Given the description of an element on the screen output the (x, y) to click on. 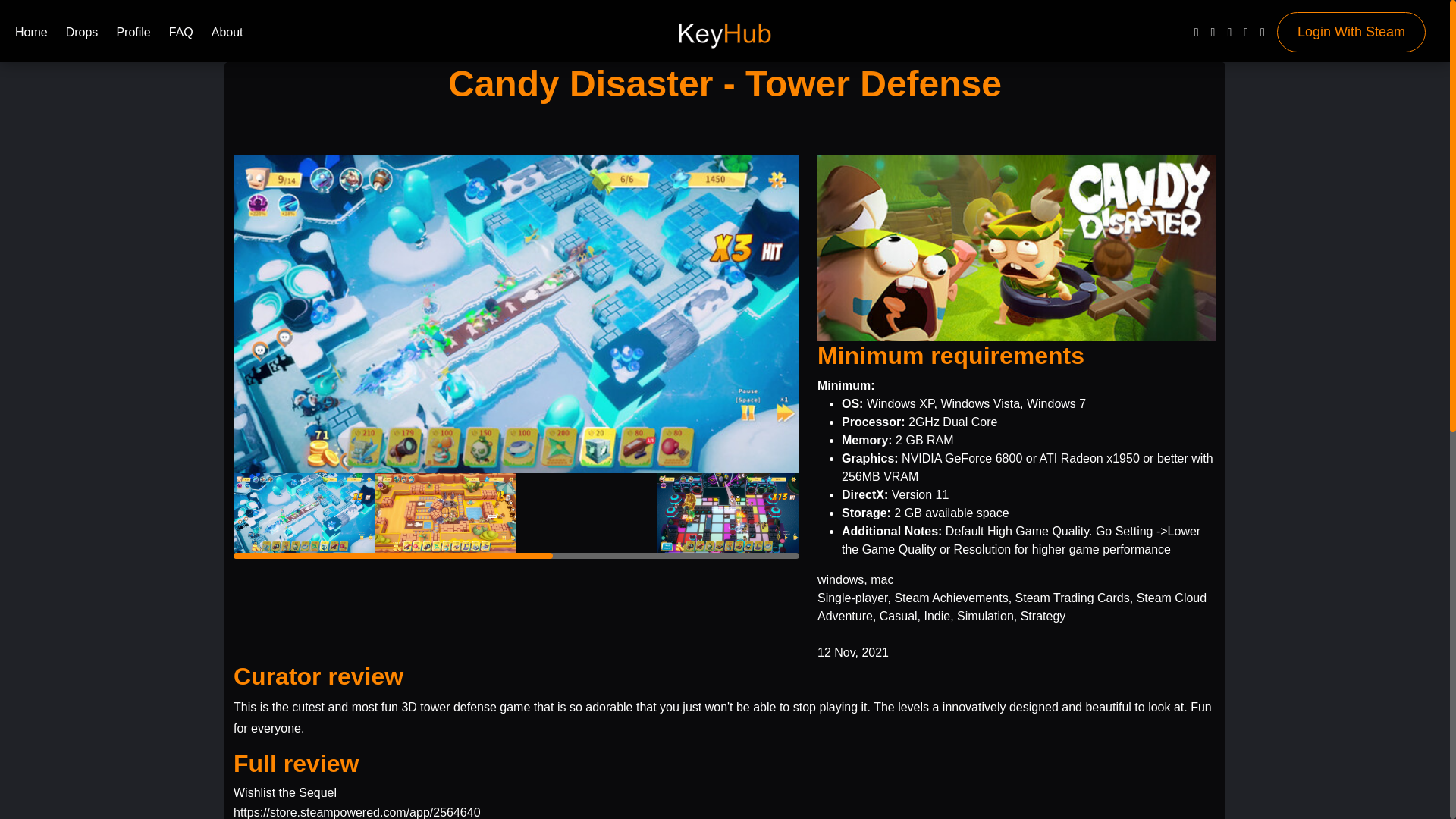
About (227, 35)
Login With Steam (1350, 32)
FAQ (180, 35)
Profile (132, 35)
Drops (82, 35)
Home (31, 35)
